Given the description of an element on the screen output the (x, y) to click on. 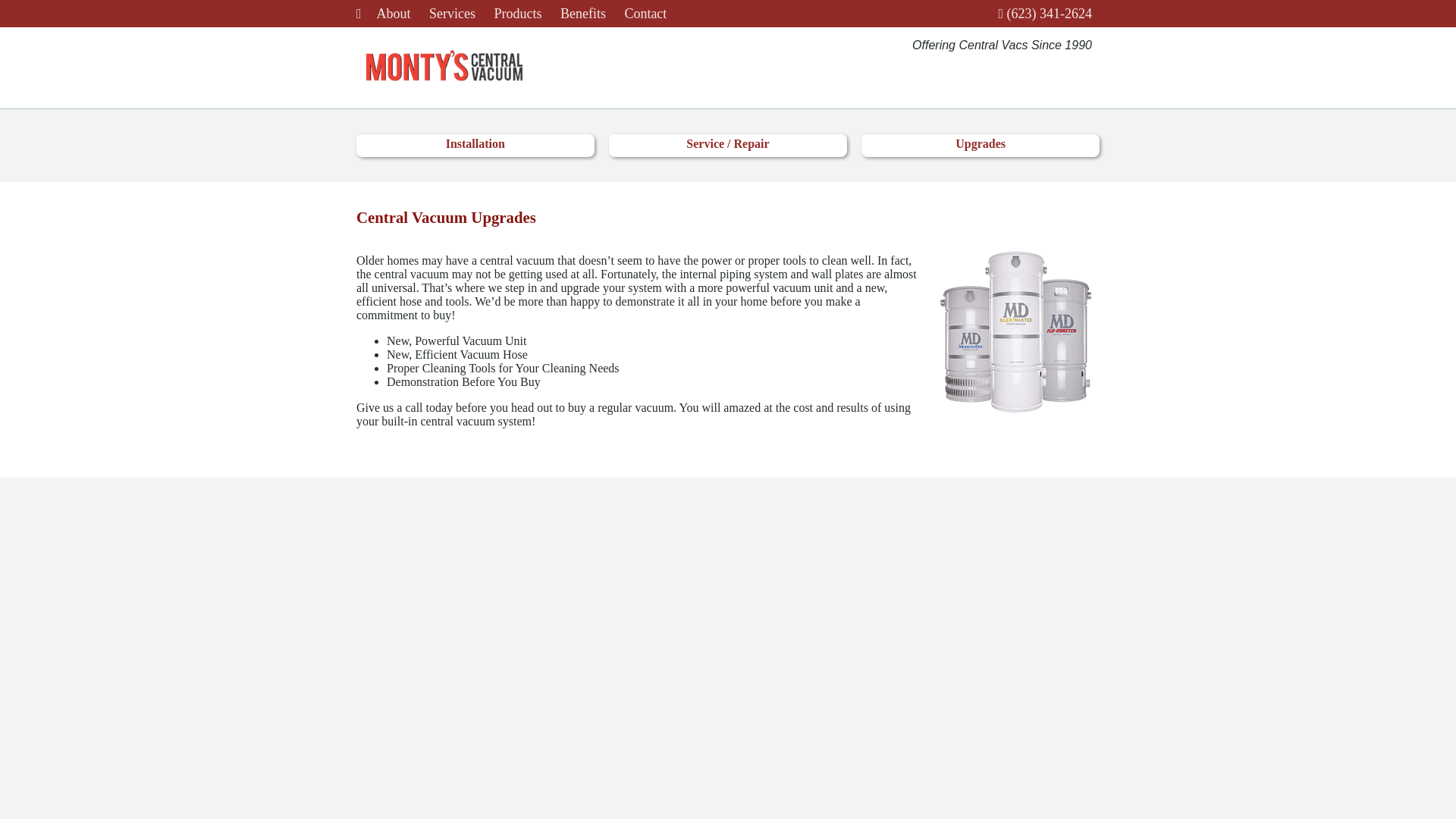
Contact (645, 13)
Benefits (582, 13)
Installation (475, 143)
Services (452, 13)
Upgrades (980, 143)
About (393, 13)
Products (517, 13)
